Given the description of an element on the screen output the (x, y) to click on. 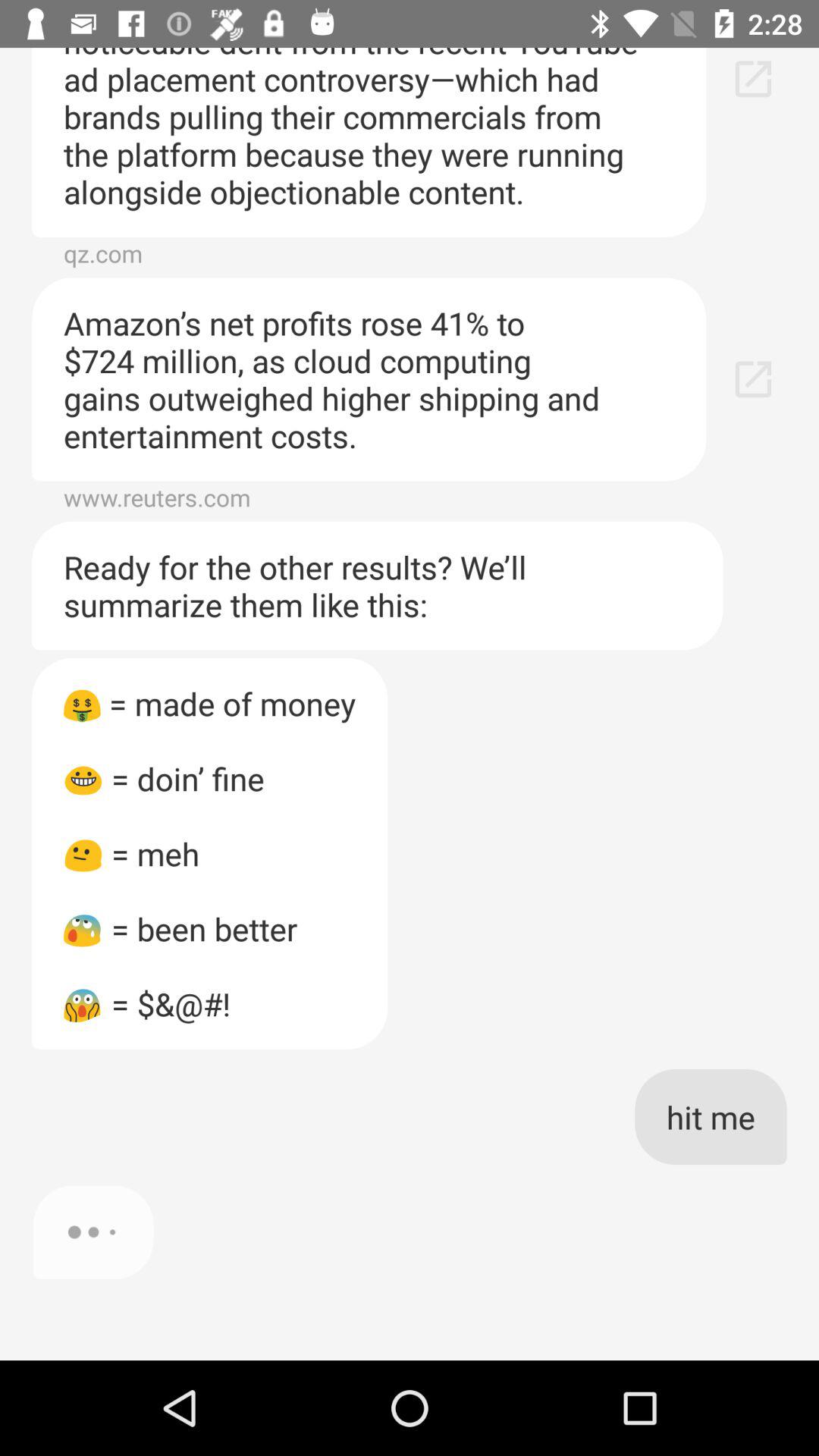
scroll to the alphabet posted earnings (368, 142)
